Given the description of an element on the screen output the (x, y) to click on. 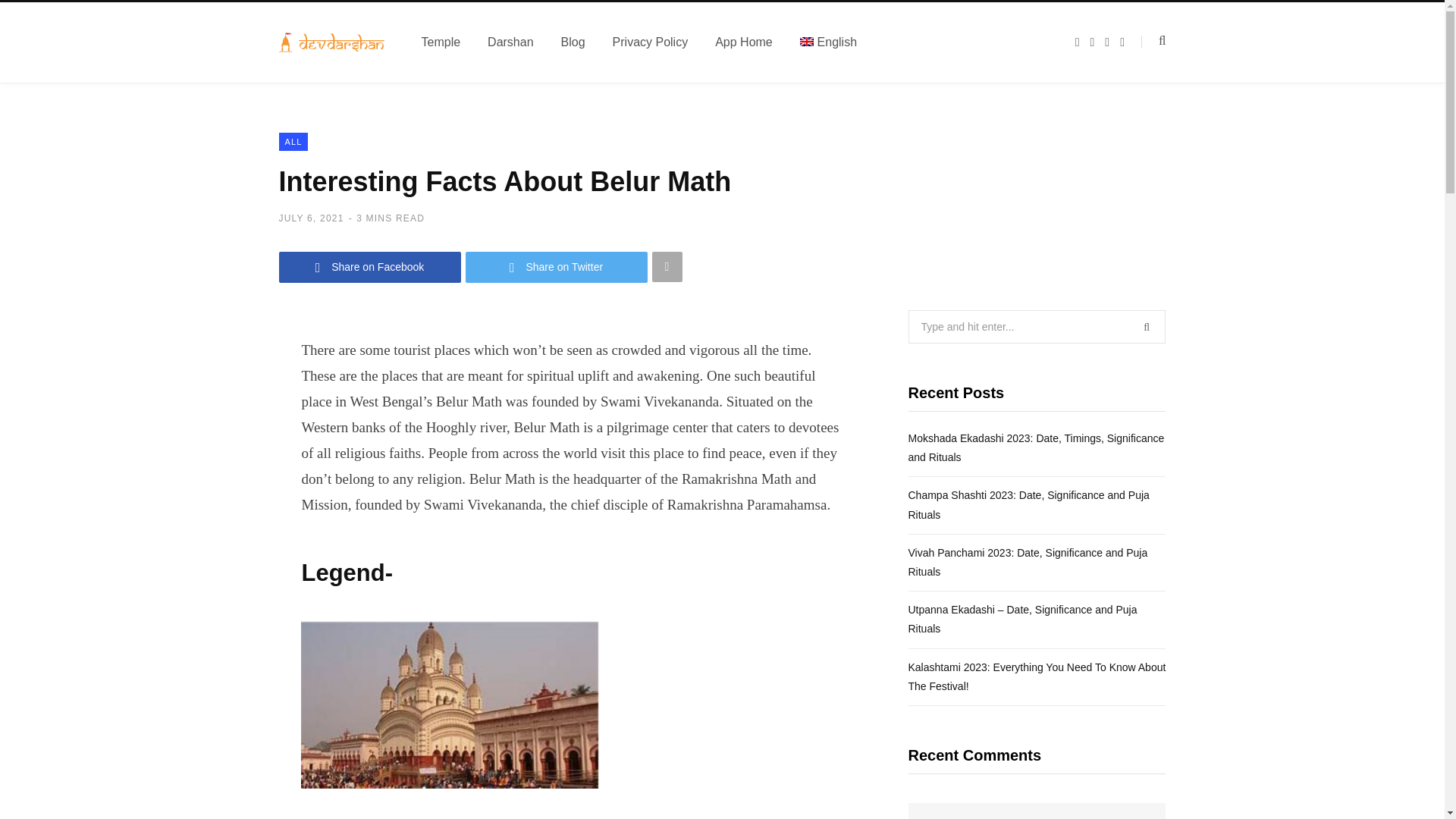
Temple (440, 41)
DevDarshan Blog (332, 42)
Search (1153, 41)
JULY 6, 2021 (311, 217)
ALL (293, 141)
Privacy Policy (649, 41)
English (828, 41)
Share on Facebook (370, 266)
Share on Twitter (556, 266)
English (828, 41)
Share on Twitter (556, 266)
Darshan (510, 41)
Blog (572, 41)
Share on Facebook (370, 266)
App Home (743, 41)
